Given the description of an element on the screen output the (x, y) to click on. 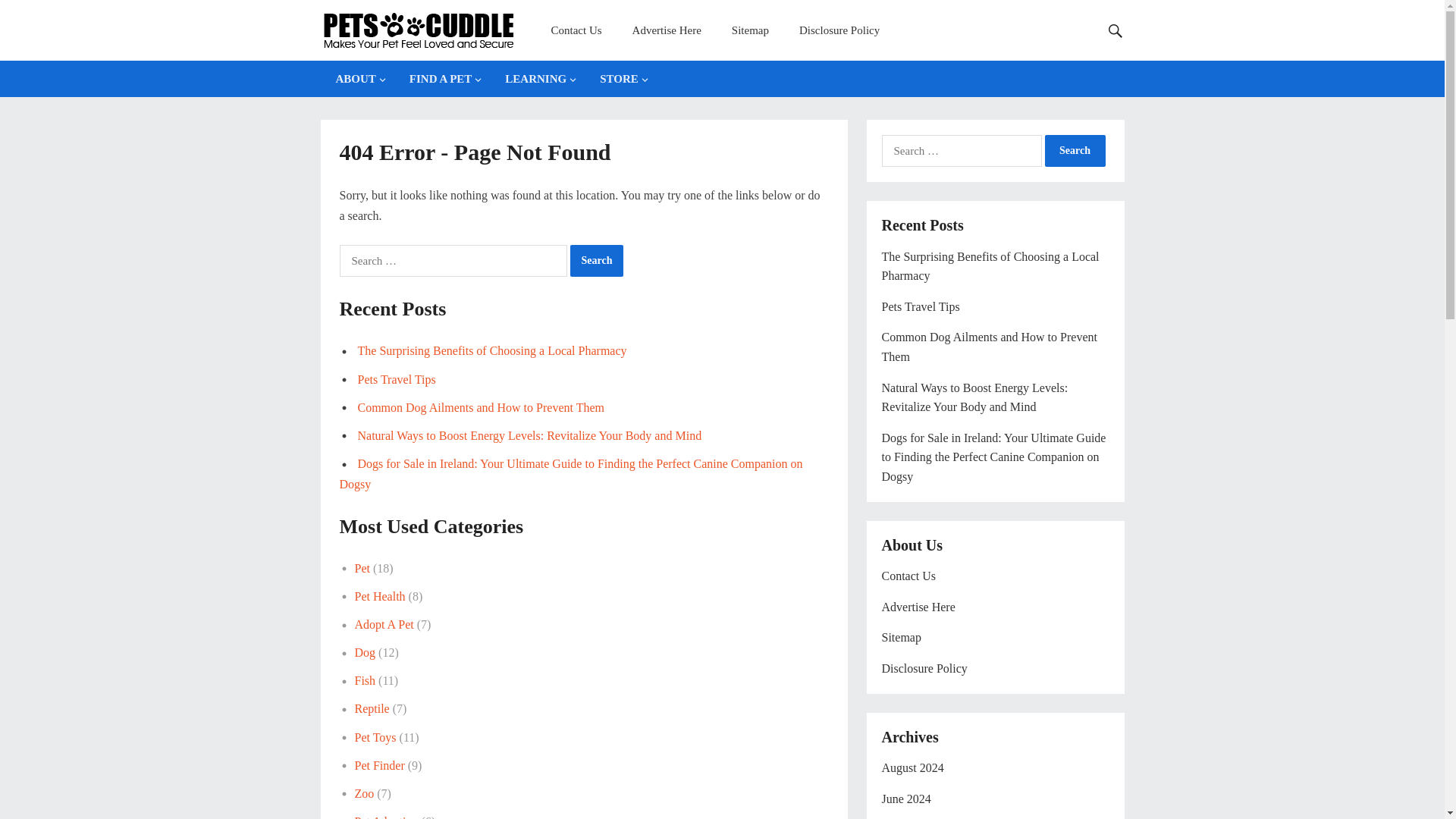
Search (597, 260)
Advertise Here (666, 30)
Search (1075, 151)
STORE (620, 78)
The Surprising Benefits of Choosing a Local Pharmacy (492, 350)
Search (597, 260)
LEARNING (537, 78)
ABOUT (356, 78)
Disclosure Policy (839, 30)
FIND A PET (442, 78)
